Given the description of an element on the screen output the (x, y) to click on. 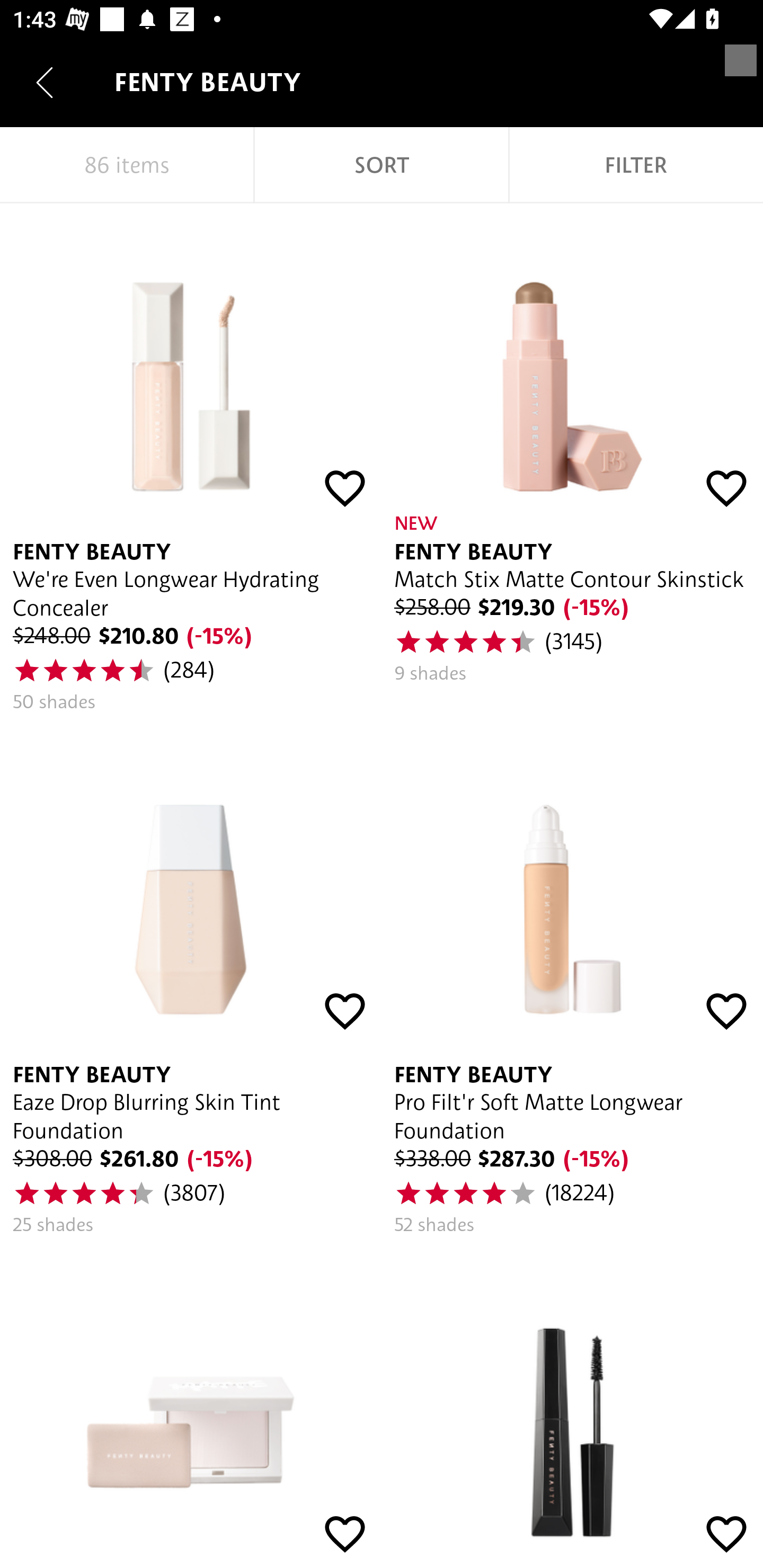
Navigate up (44, 82)
SORT (381, 165)
FILTER (636, 165)
